Given the description of an element on the screen output the (x, y) to click on. 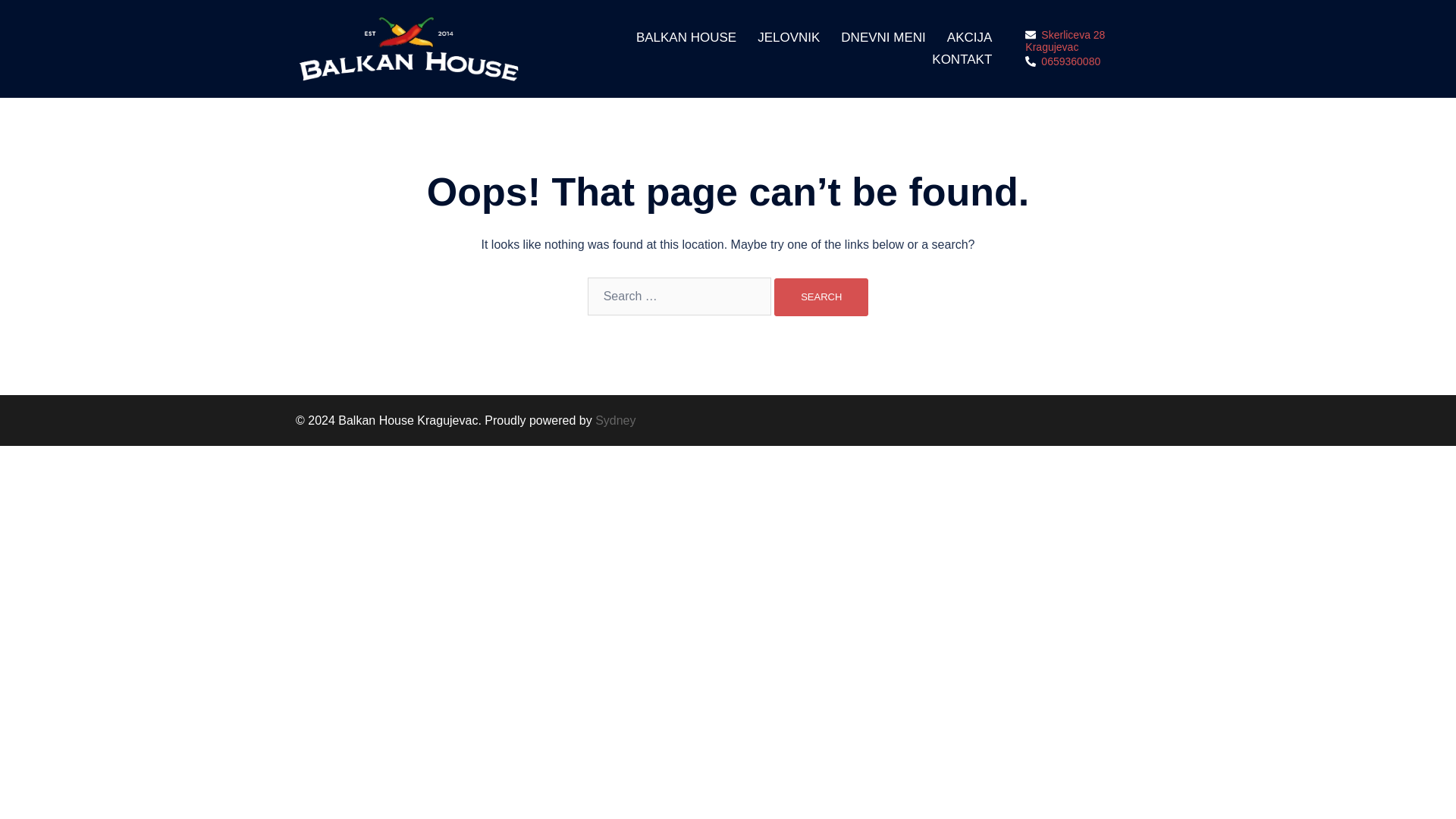
DNEVNI MENI (882, 38)
Search (820, 297)
BALKAN HOUSE (686, 38)
Search (820, 297)
Search (820, 297)
Skerliceva 28 Kragujevac (1092, 40)
Balkan House Kragujevac (409, 47)
Sydney (614, 420)
AKCIJA (969, 38)
KONTAKT (961, 60)
